Given the description of an element on the screen output the (x, y) to click on. 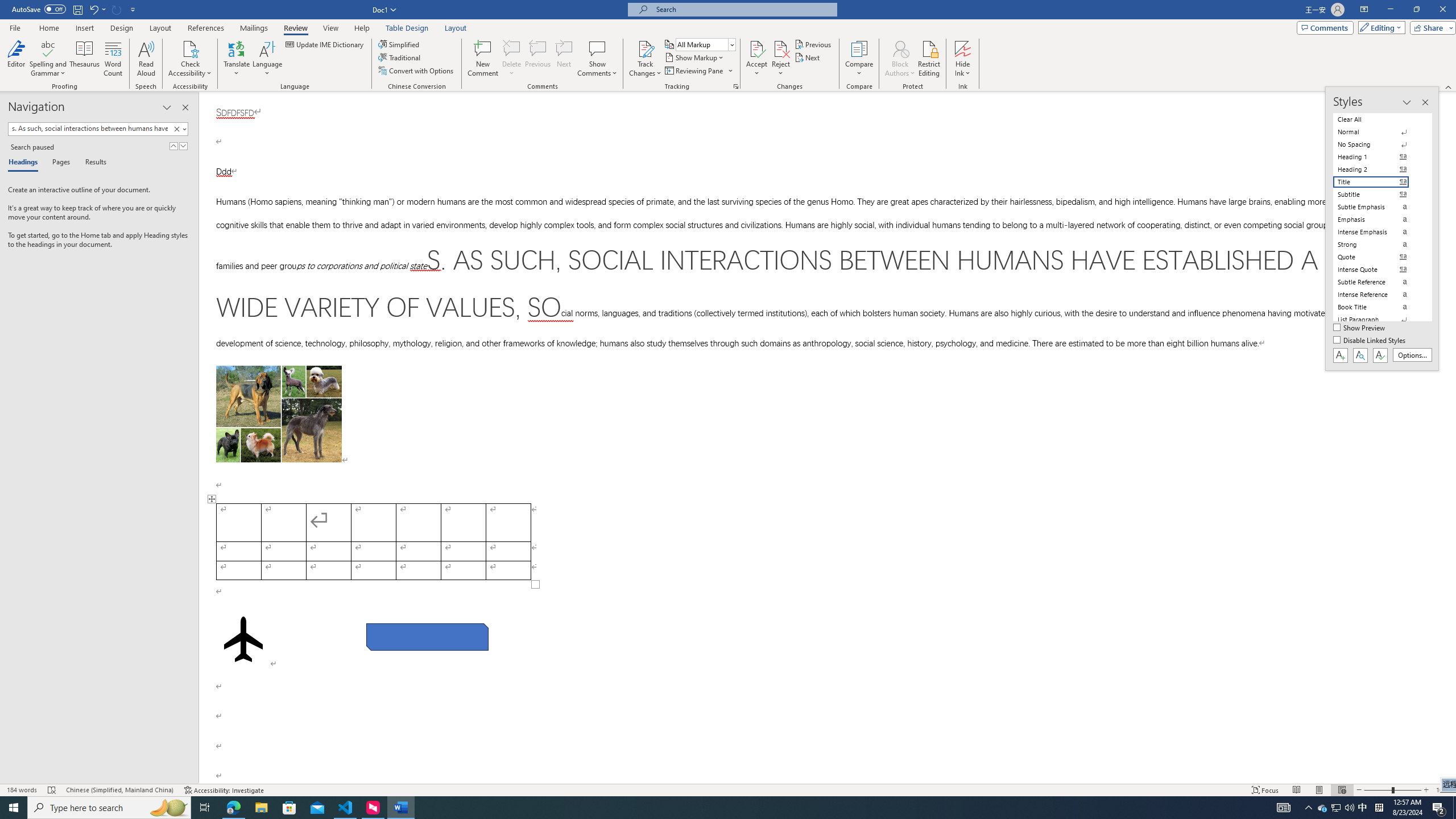
Spelling and Grammar (48, 58)
